Given the description of an element on the screen output the (x, y) to click on. 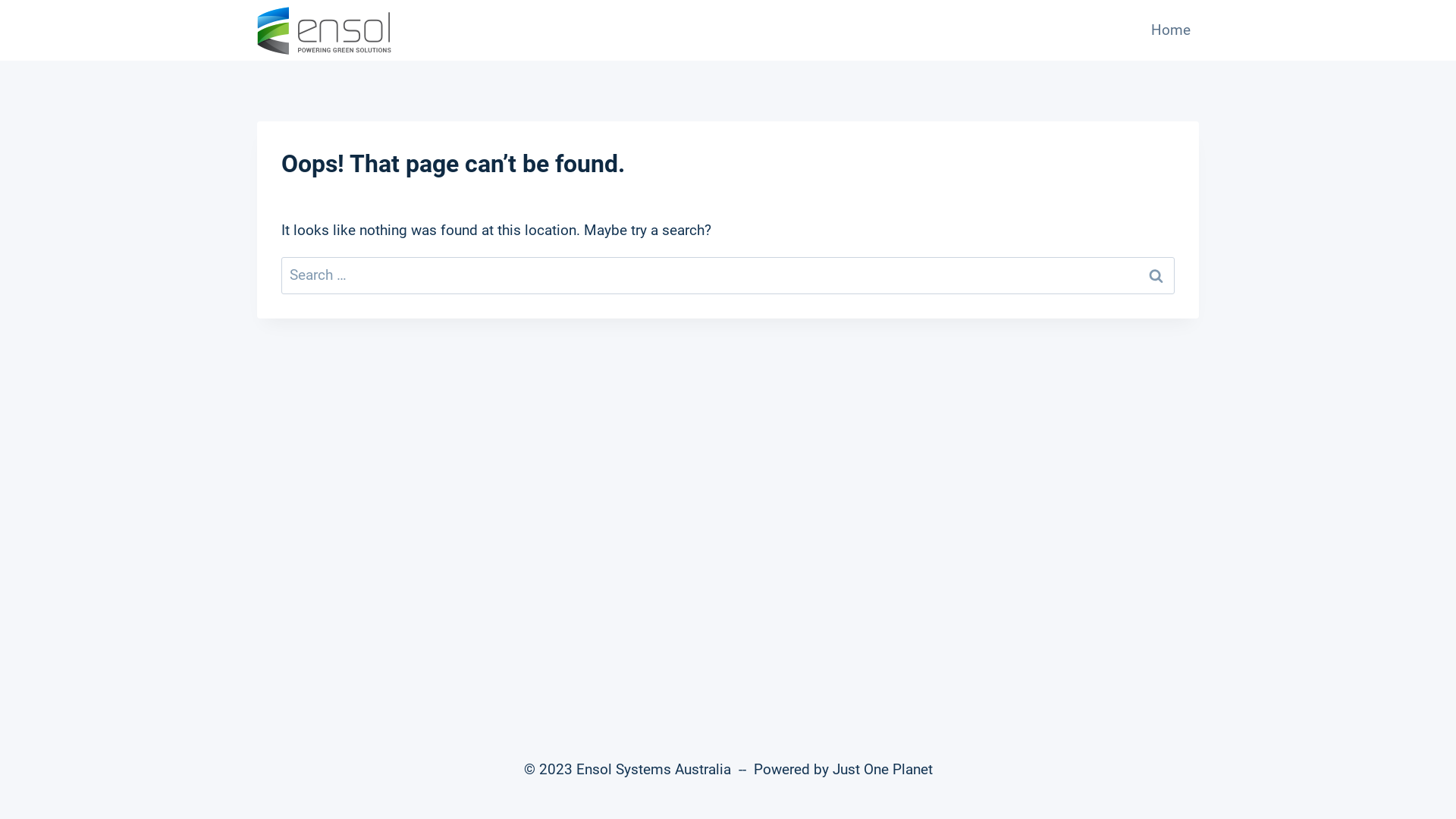
Home Element type: text (1170, 29)
Search Element type: text (1155, 275)
